Given the description of an element on the screen output the (x, y) to click on. 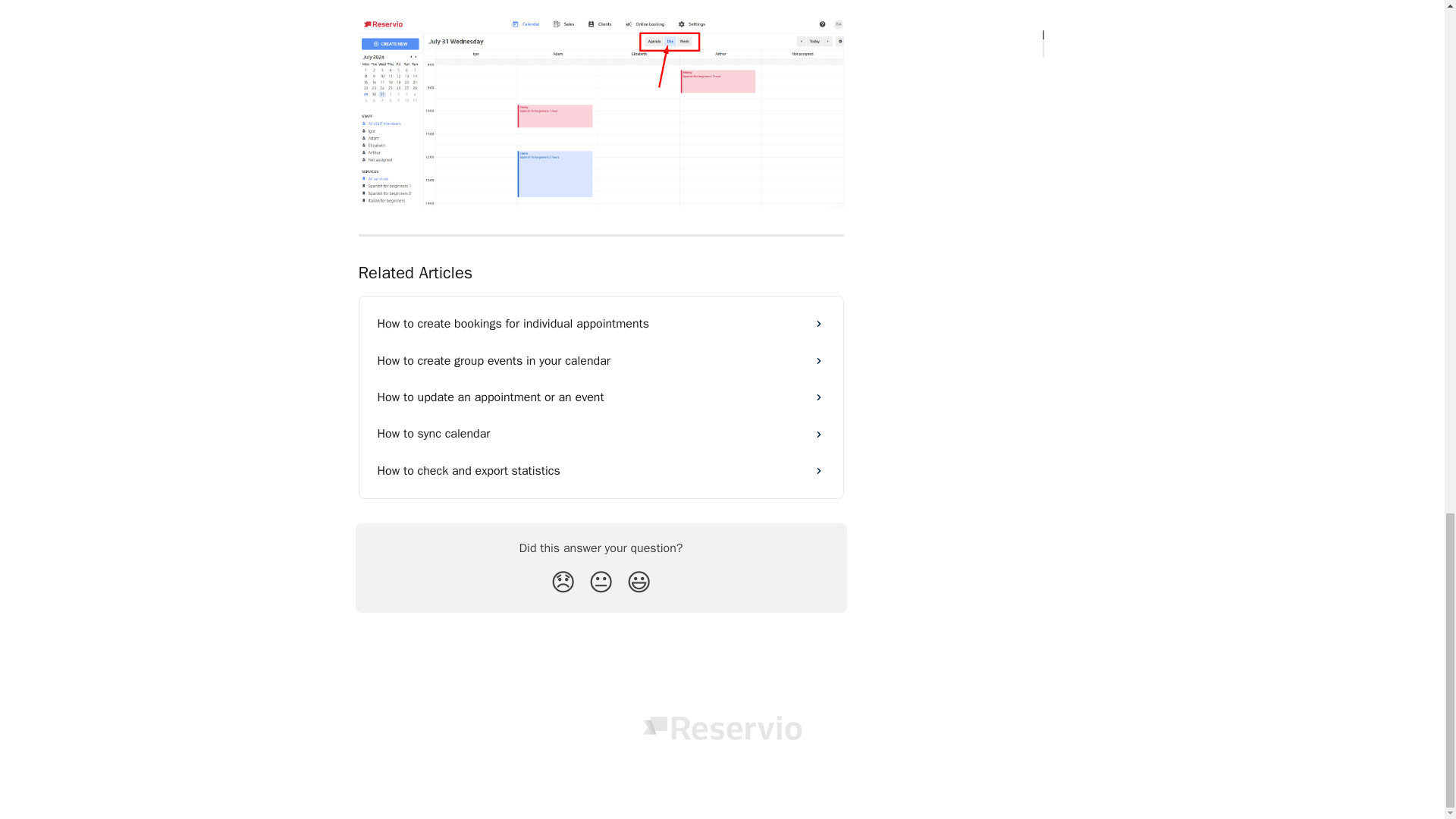
How to create bookings for individual appointments (601, 323)
How to check and export statistics (601, 470)
How to update an appointment or an event (601, 397)
How to create group events in your calendar (601, 361)
How to sync calendar (601, 433)
